Given the description of an element on the screen output the (x, y) to click on. 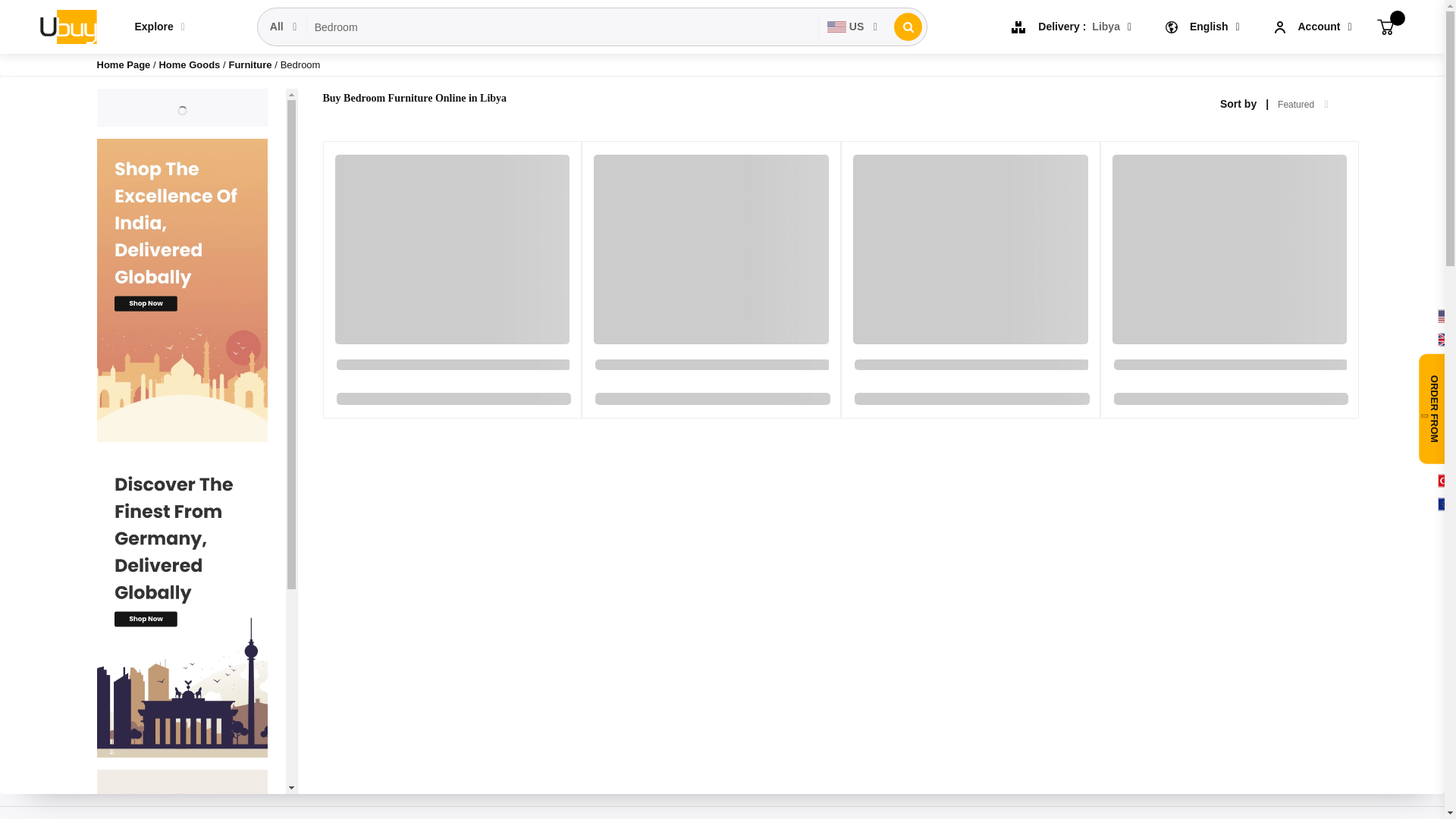
Home Page (124, 64)
Cart (1385, 26)
Home Page (124, 64)
All (283, 26)
Ubuy (67, 26)
Home Goods (190, 64)
Bedroom (562, 26)
US (852, 26)
Bedroom (562, 26)
Home Goods (190, 64)
